Given the description of an element on the screen output the (x, y) to click on. 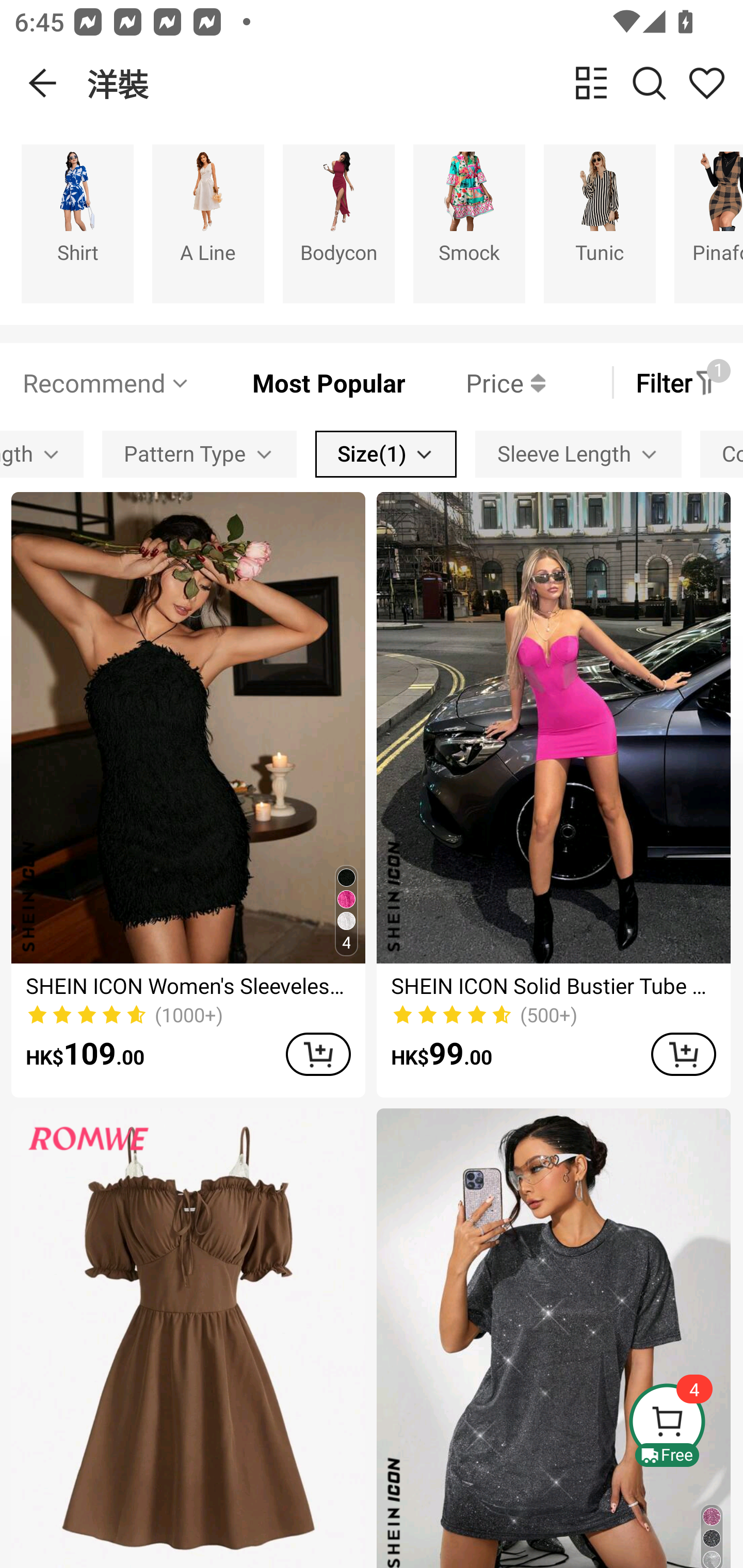
洋裝 change view Search Share (414, 82)
change view (591, 82)
Search (648, 82)
Share (706, 82)
Shirt (77, 223)
A Line (208, 223)
Bodycon (338, 223)
Smock (469, 223)
Tunic (599, 223)
Pinafore (708, 223)
Recommend (106, 382)
Most Popular (297, 382)
Price (474, 382)
Filter 1 (677, 382)
Length (41, 454)
Pattern Type (199, 454)
Size(1) (385, 454)
Sleeve Length (578, 454)
ADD TO CART (318, 1054)
ADD TO CART (683, 1054)
Free (685, 1424)
